Given the description of an element on the screen output the (x, y) to click on. 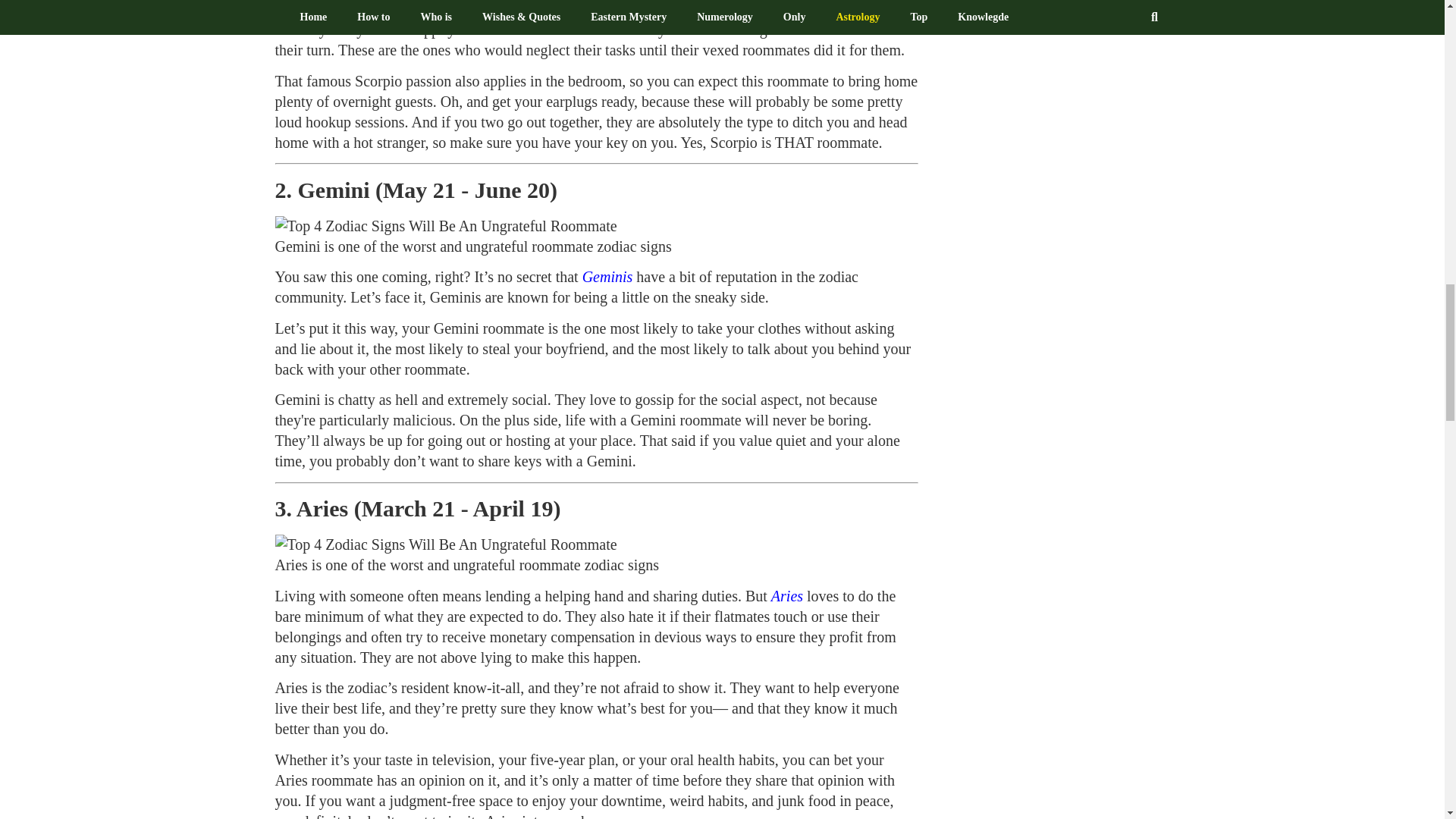
Aries (787, 596)
Geminis (607, 276)
Top 4 Zodiac Signs Will Be An Ungrateful Roommate (445, 544)
Top 4 Zodiac Signs Will Be An Ungrateful Roommate (445, 226)
